Given the description of an element on the screen output the (x, y) to click on. 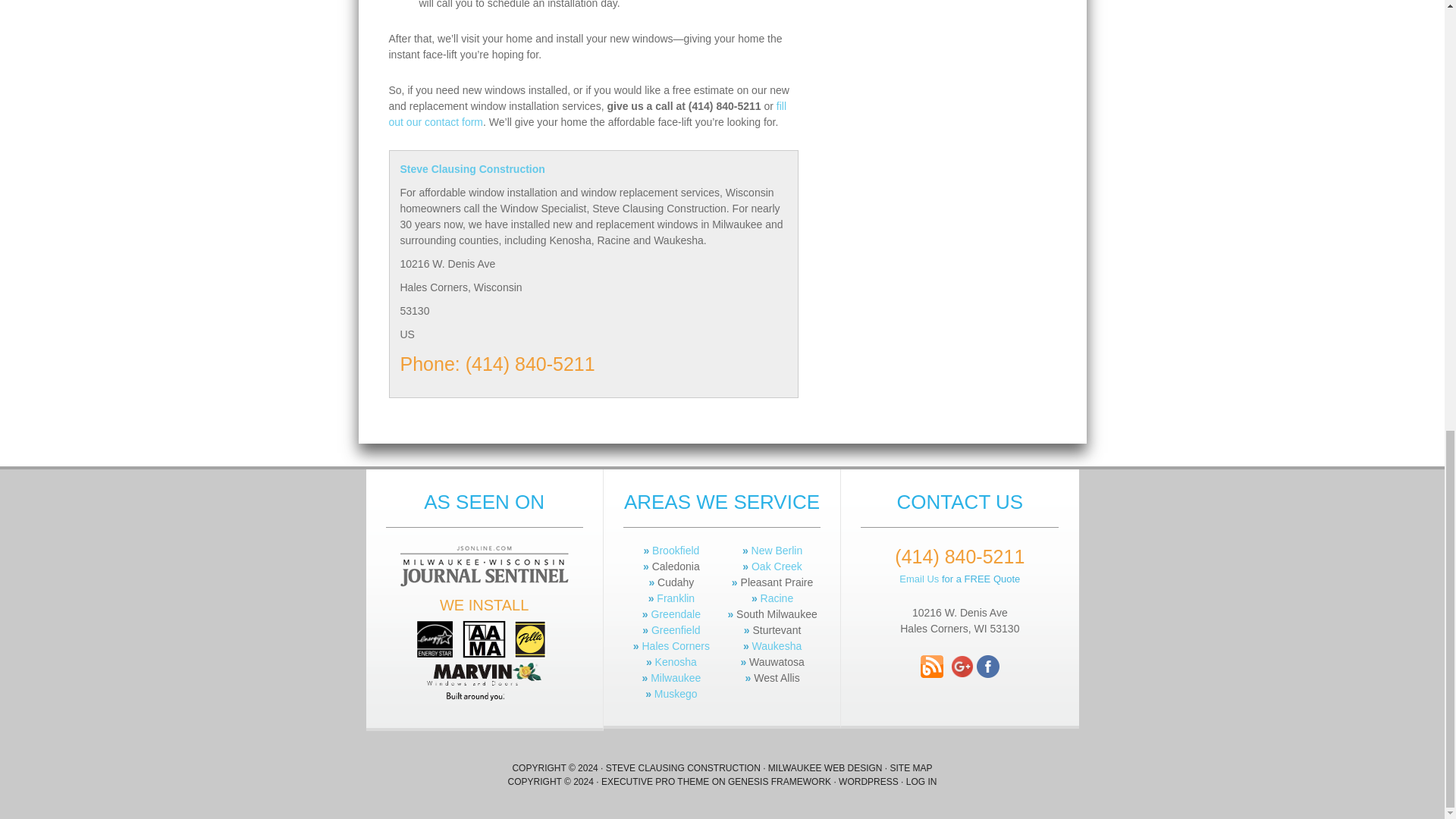
fill out our contact form (587, 113)
Steve Clausing Construction (593, 169)
